Given the description of an element on the screen output the (x, y) to click on. 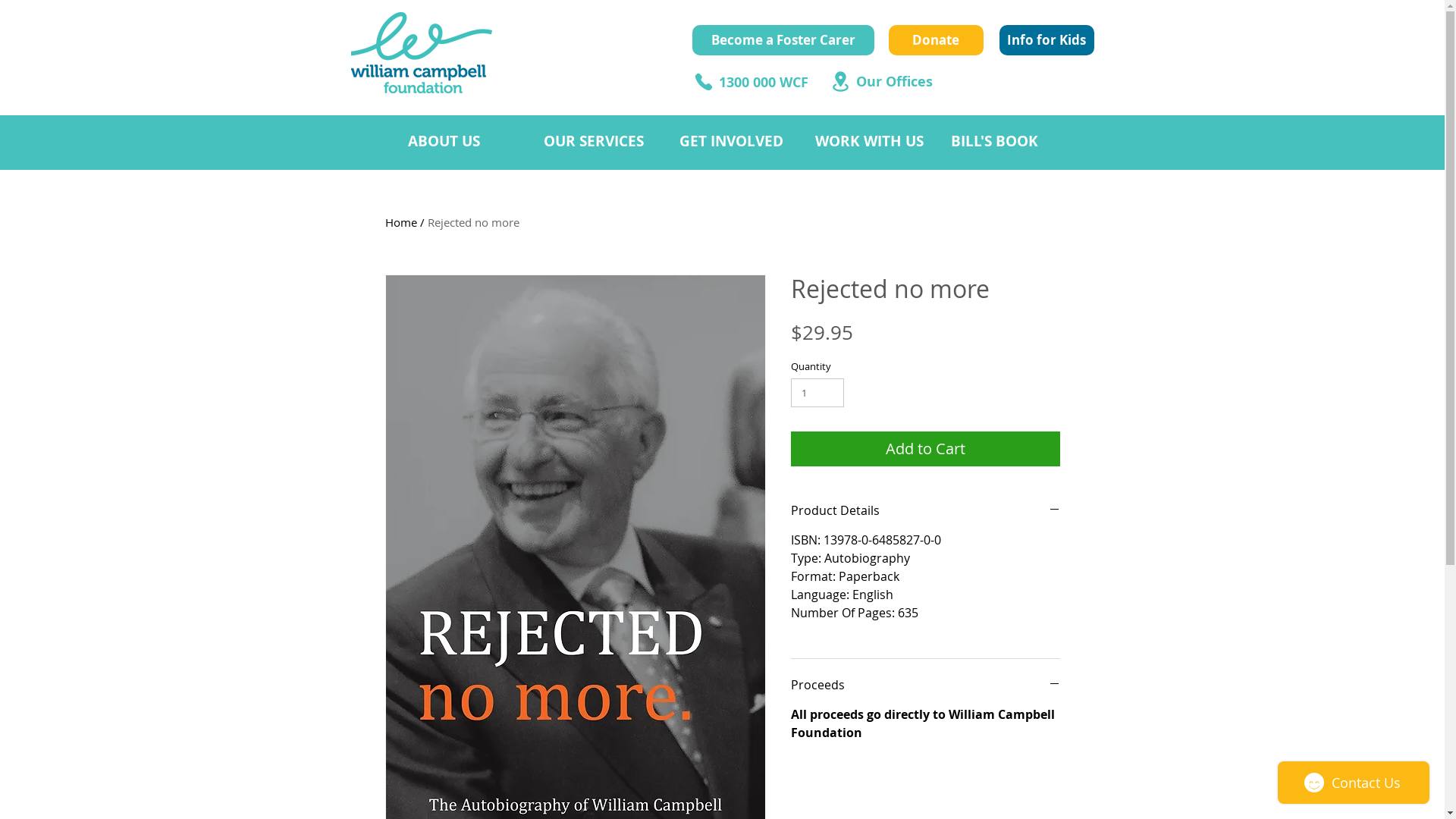
1300 000 WCF Element type: text (763, 82)
BILL'S BOOK Element type: text (1005, 141)
Donate Element type: text (935, 40)
Product Details Element type: text (924, 509)
Home Element type: text (401, 221)
GET INVOLVED Element type: text (735, 141)
Our Offices Element type: text (893, 81)
Proceeds Element type: text (924, 684)
OUR SERVICES Element type: text (600, 141)
Add to Cart Element type: text (924, 448)
Rejected no more Element type: text (473, 221)
Become a Foster Carer Element type: text (782, 40)
Info for Kids Element type: text (1046, 40)
ABOUT US Element type: text (463, 141)
WORK WITH US Element type: text (871, 141)
